Given the description of an element on the screen output the (x, y) to click on. 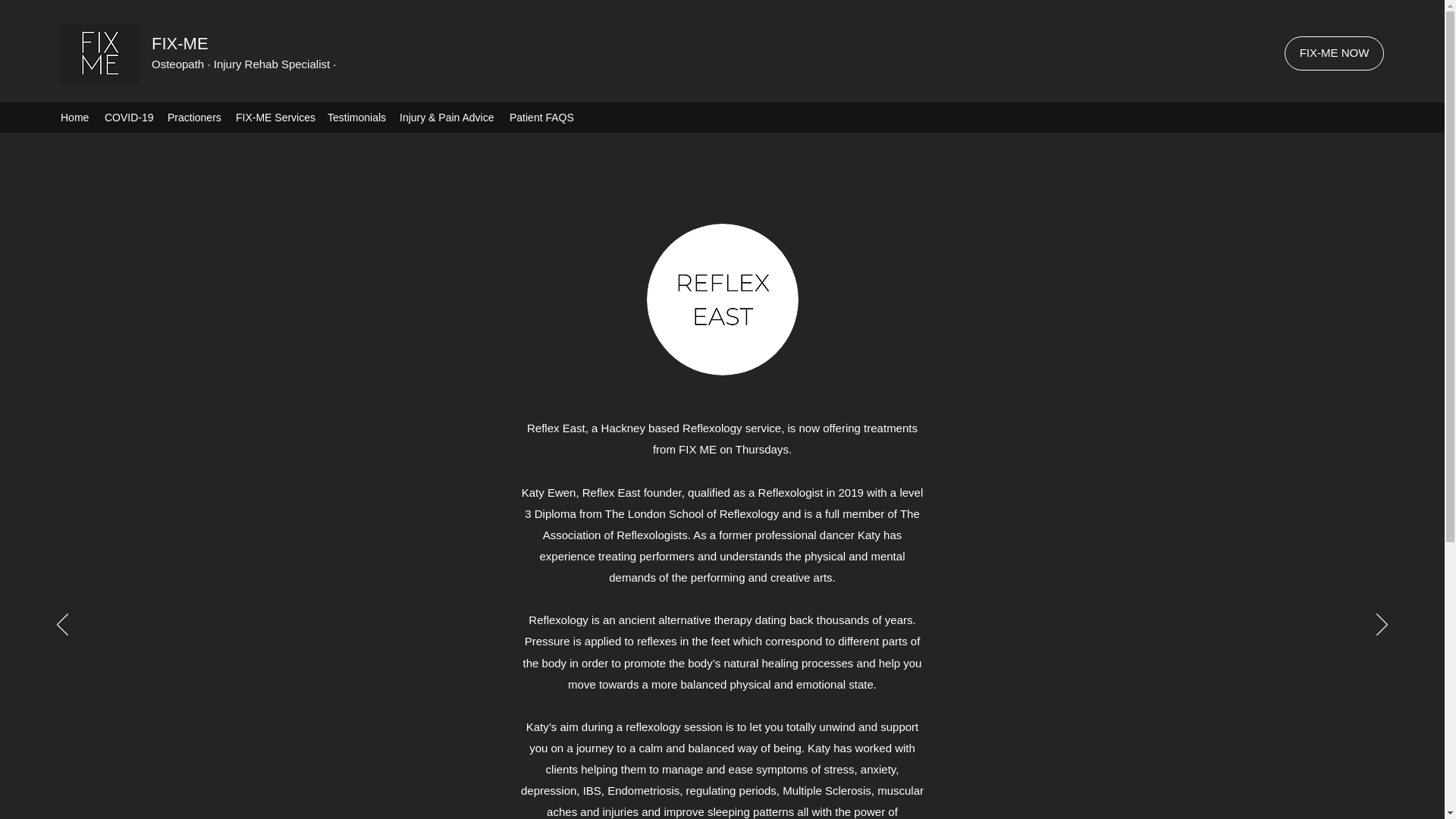
COVID-19 (128, 117)
Home (74, 117)
FIX-ME Services (274, 117)
Testimonials (355, 117)
FIX-ME NOW (1334, 53)
Patient FAQS (541, 117)
Practioners (194, 117)
